Given the description of an element on the screen output the (x, y) to click on. 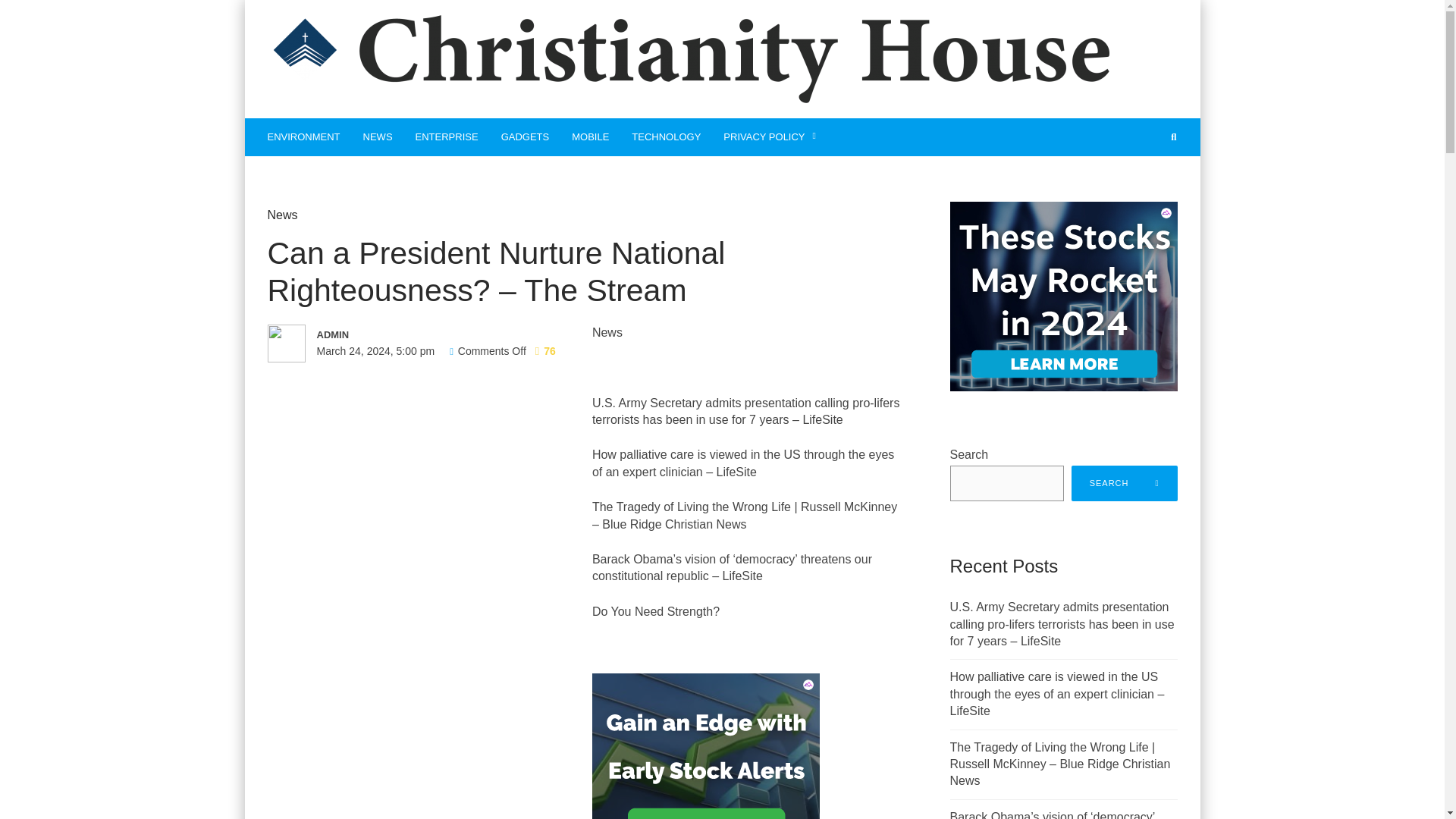
View all posts by admin (422, 334)
Ads by InteractiveOffers (1062, 295)
Do You Need Strength? (655, 611)
Views (545, 350)
MOBILE (590, 136)
NEWS (378, 136)
Ads by InteractiveOffers (705, 766)
ENTERPRISE (446, 136)
News (281, 214)
TECHNOLOGY (665, 136)
SEARCH (1124, 483)
ENVIRONMENT (304, 136)
ADMIN (422, 334)
PRIVACY POLICY (770, 136)
GADGETS (524, 136)
